Given the description of an element on the screen output the (x, y) to click on. 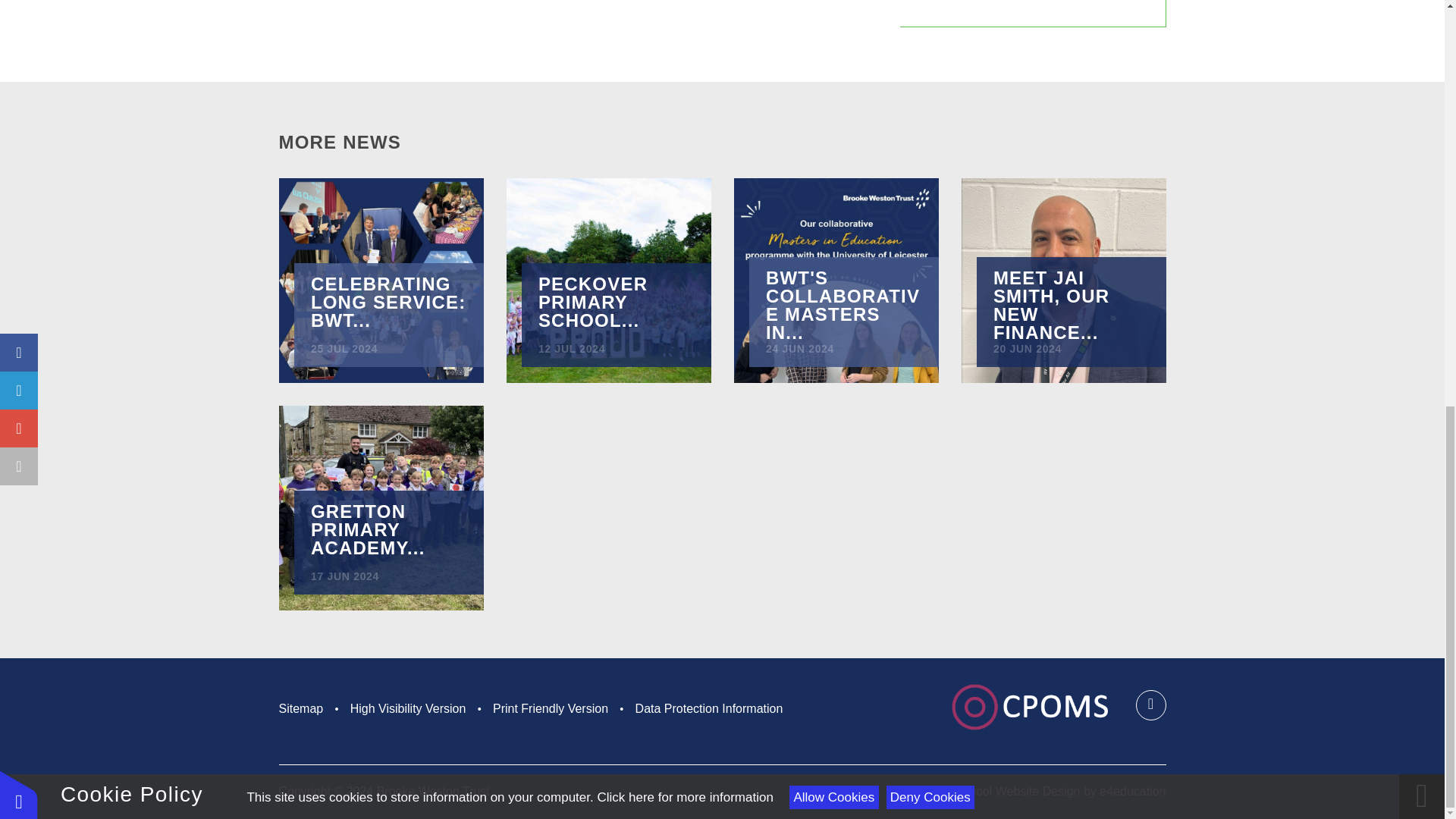
Cookie Settings (18, 5)
Deny Cookies (930, 0)
Allow Cookies (833, 0)
